Given the description of an element on the screen output the (x, y) to click on. 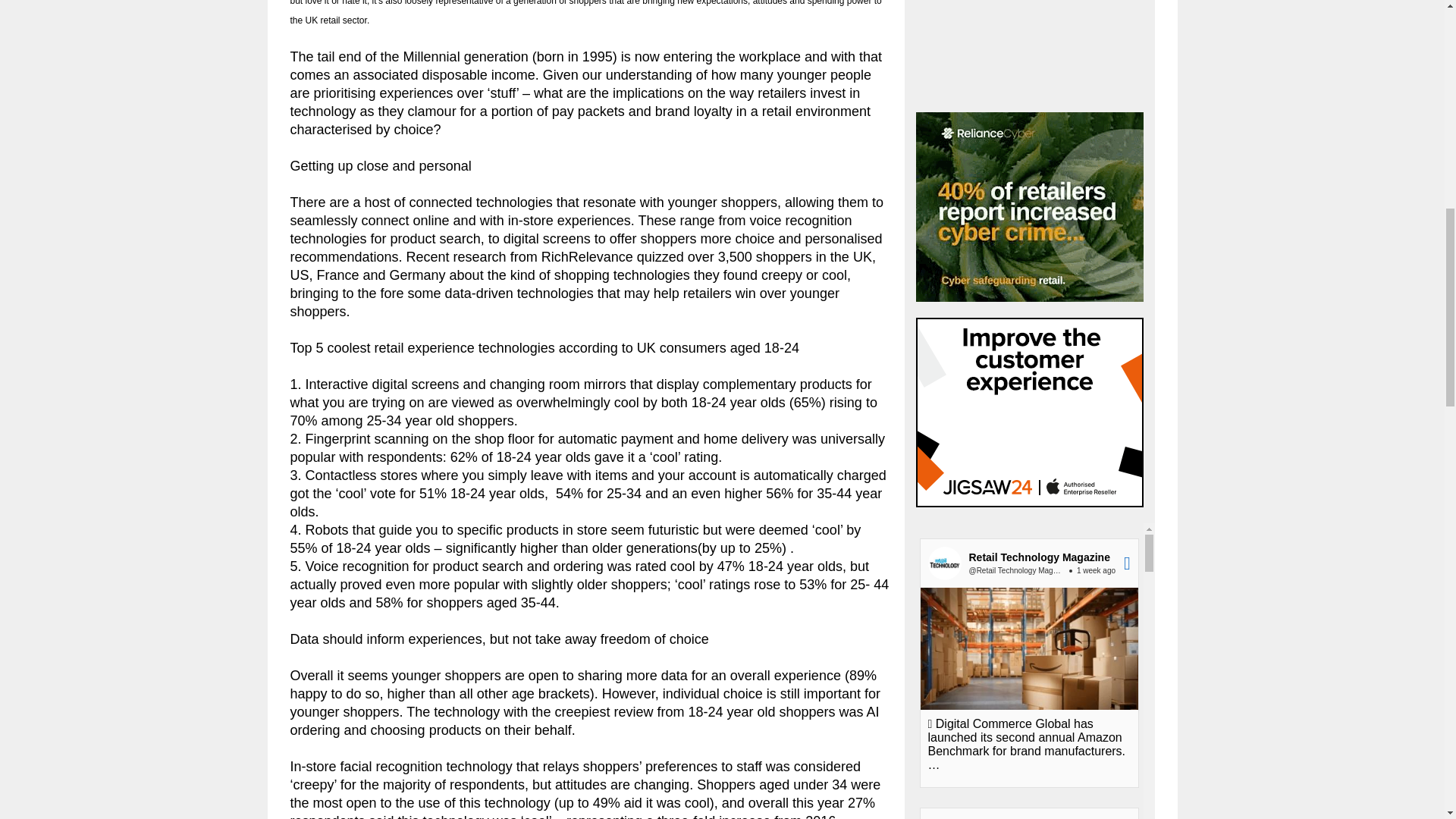
advertisement (1028, 53)
